Given the description of an element on the screen output the (x, y) to click on. 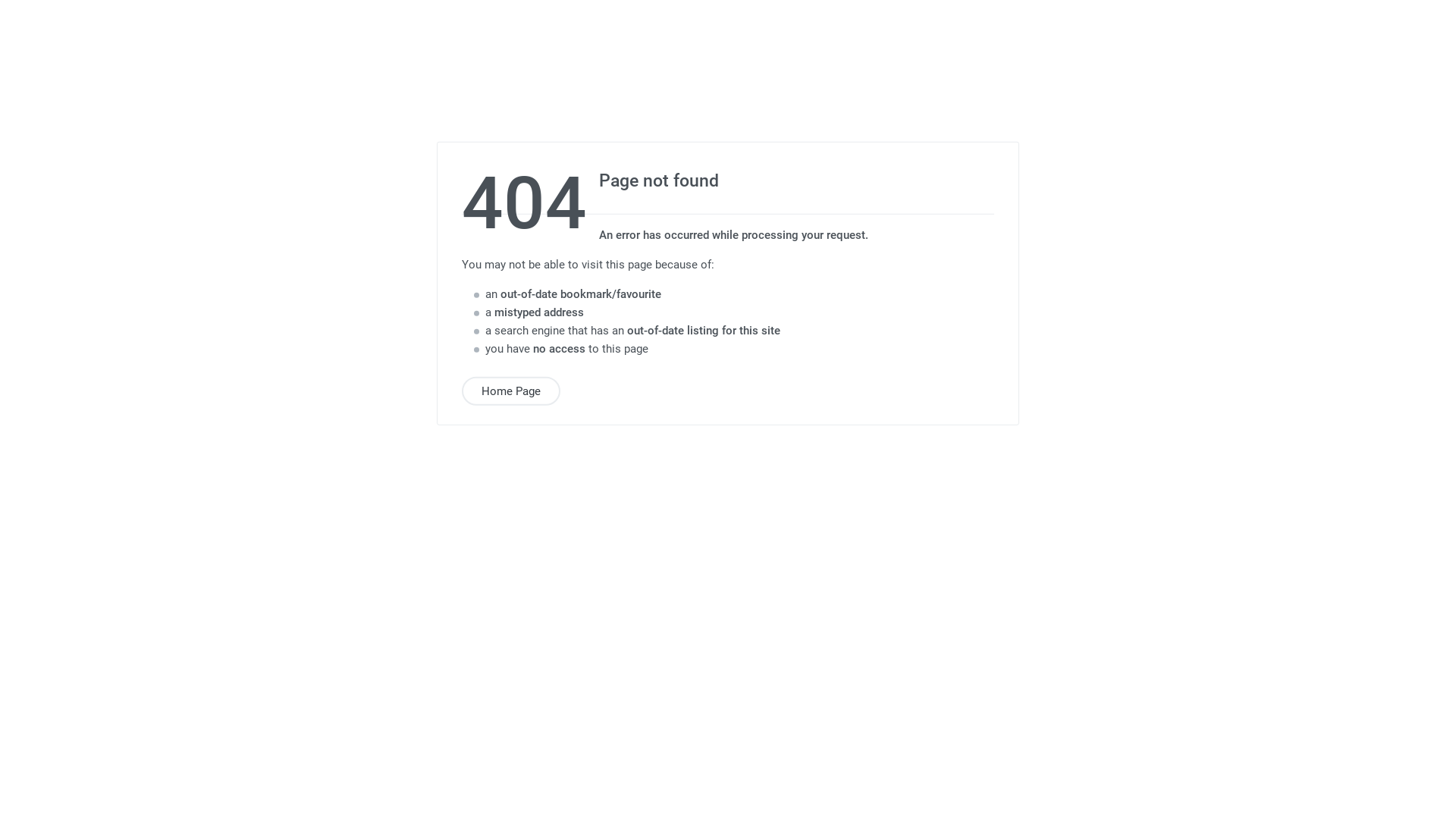
Home Page Element type: text (510, 390)
